Given the description of an element on the screen output the (x, y) to click on. 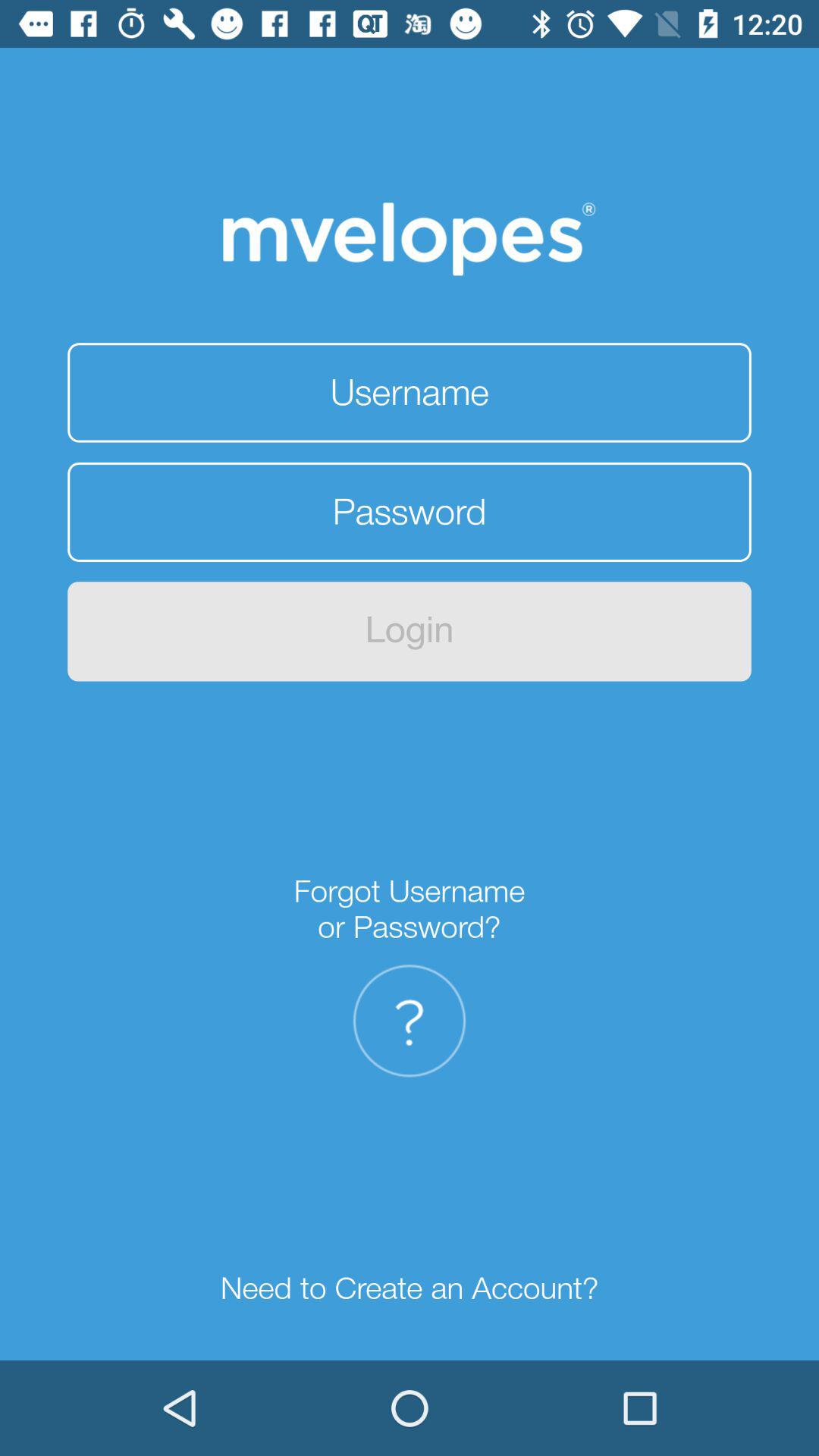
jump until forgot username or item (409, 909)
